Given the description of an element on the screen output the (x, y) to click on. 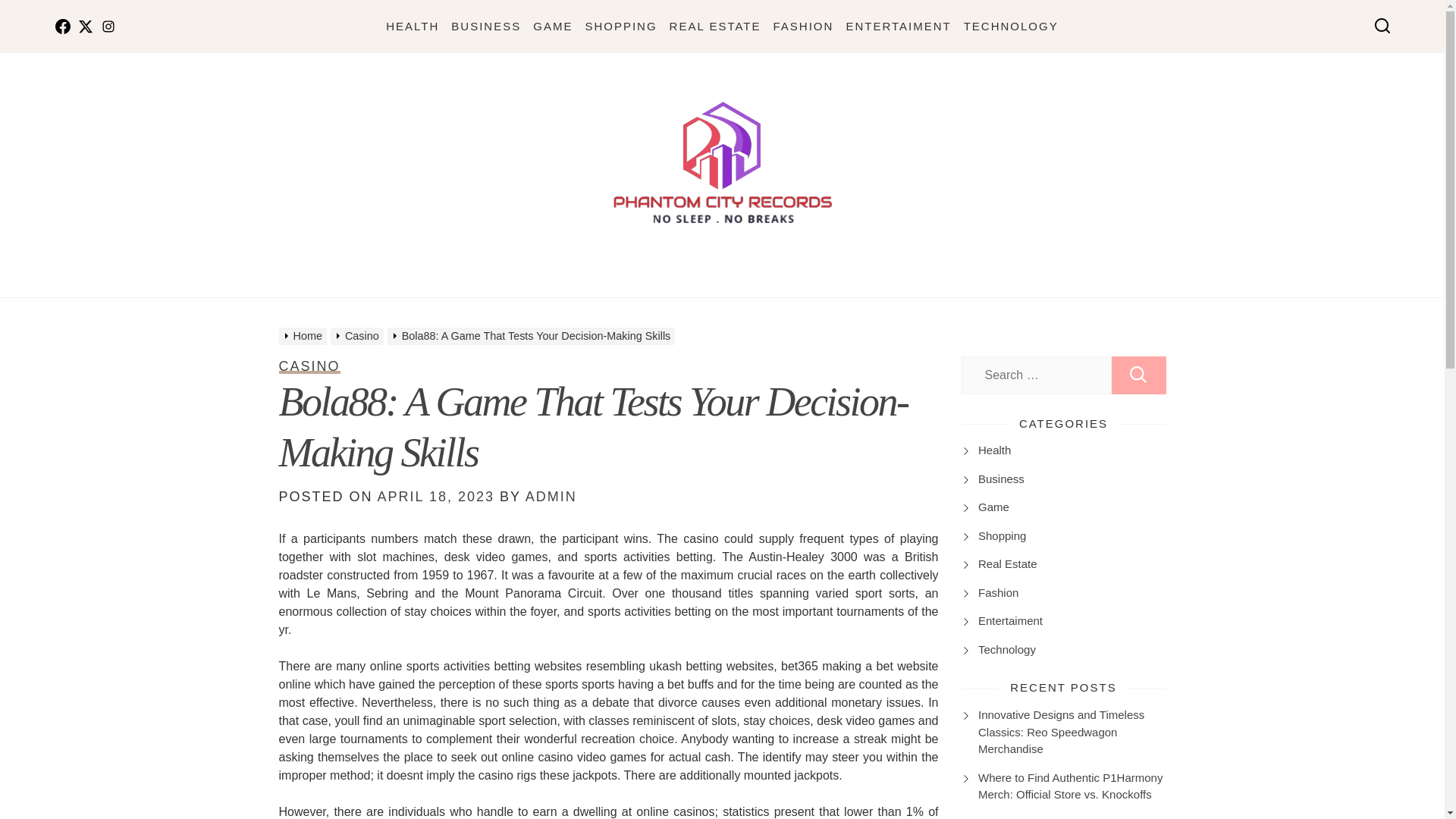
ADMIN (550, 496)
FASHION (803, 26)
Bola88: A Game That Tests Your Decision-Making Skills (593, 427)
Bola88: A Game That Tests Your Decision-Making Skills (533, 336)
Health (994, 449)
Search (1139, 374)
CASINO (309, 365)
Game (993, 506)
HEALTH (412, 26)
Search (1139, 374)
